Given the description of an element on the screen output the (x, y) to click on. 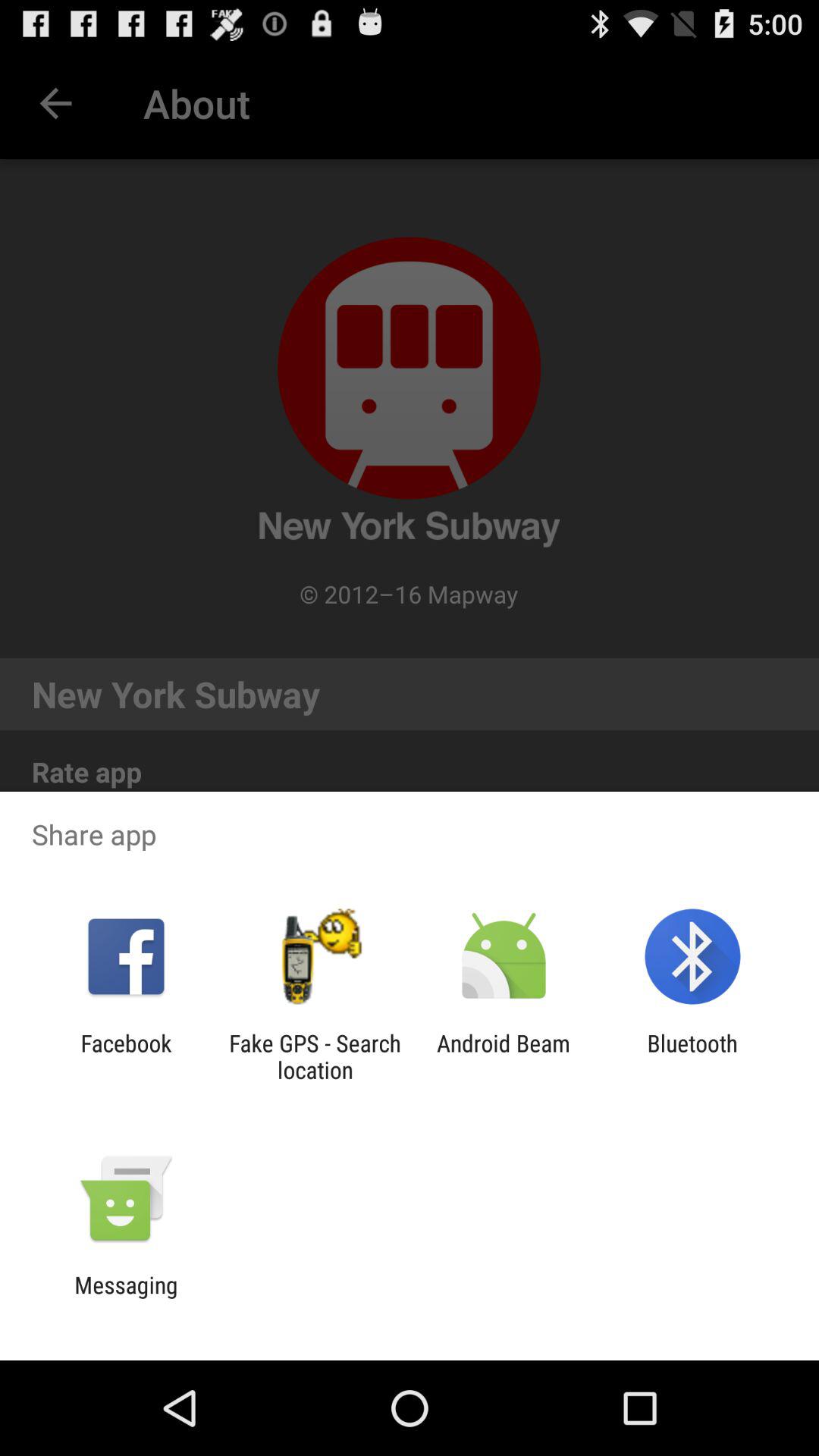
open fake gps search app (314, 1056)
